Given the description of an element on the screen output the (x, y) to click on. 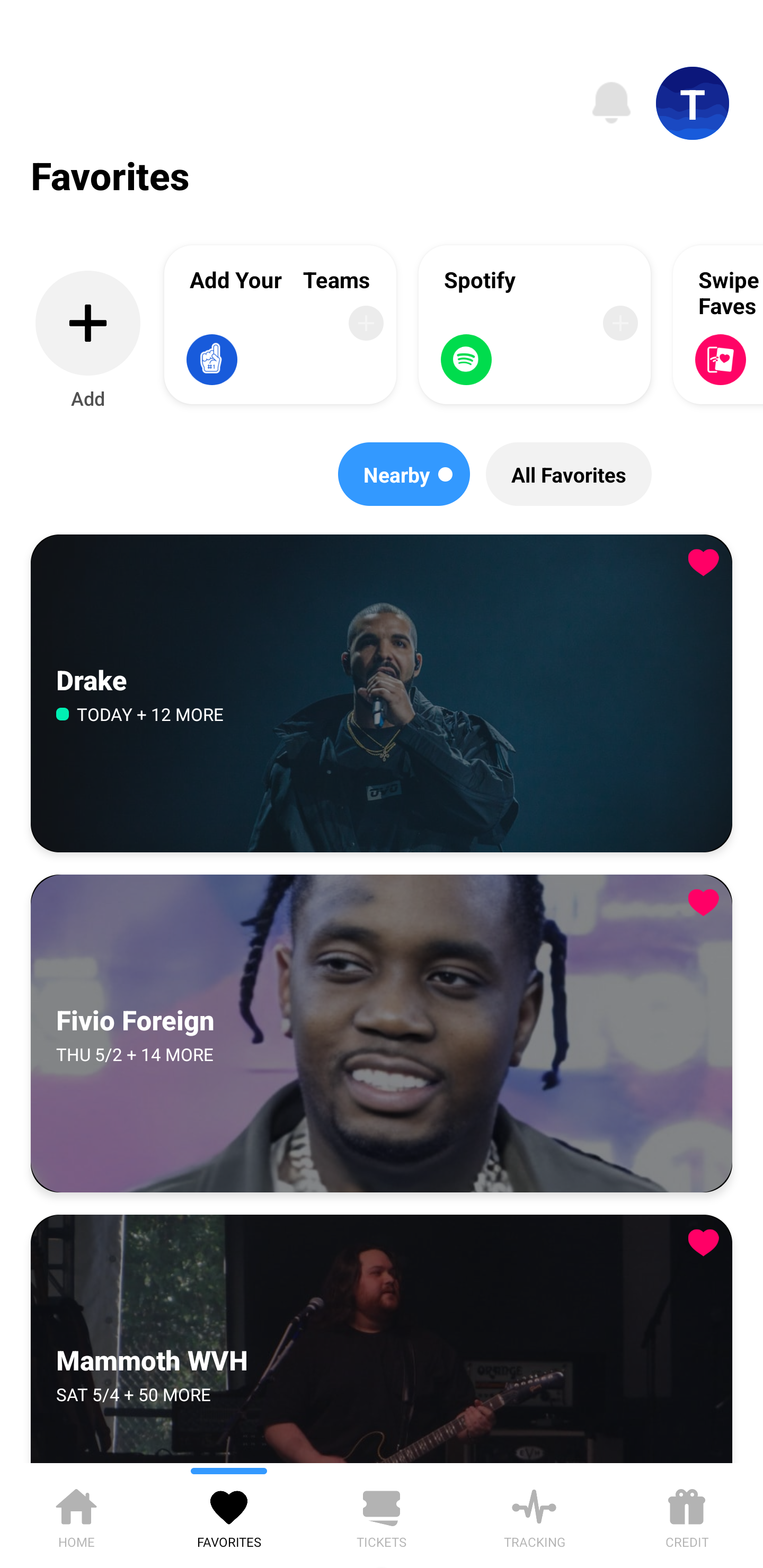
T (692, 103)
Add Your    Teams (279, 324)
Spotify (534, 324)
Add (87, 340)
Nearby (404, 474)
All Favorites (568, 474)
Drake, TODAY + 12 MORE  Drake TODAY + 12 MORE  (381, 693)
HOME (76, 1515)
FAVORITES (228, 1515)
TICKETS (381, 1515)
TRACKING (533, 1515)
CREDIT (686, 1515)
